Given the description of an element on the screen output the (x, y) to click on. 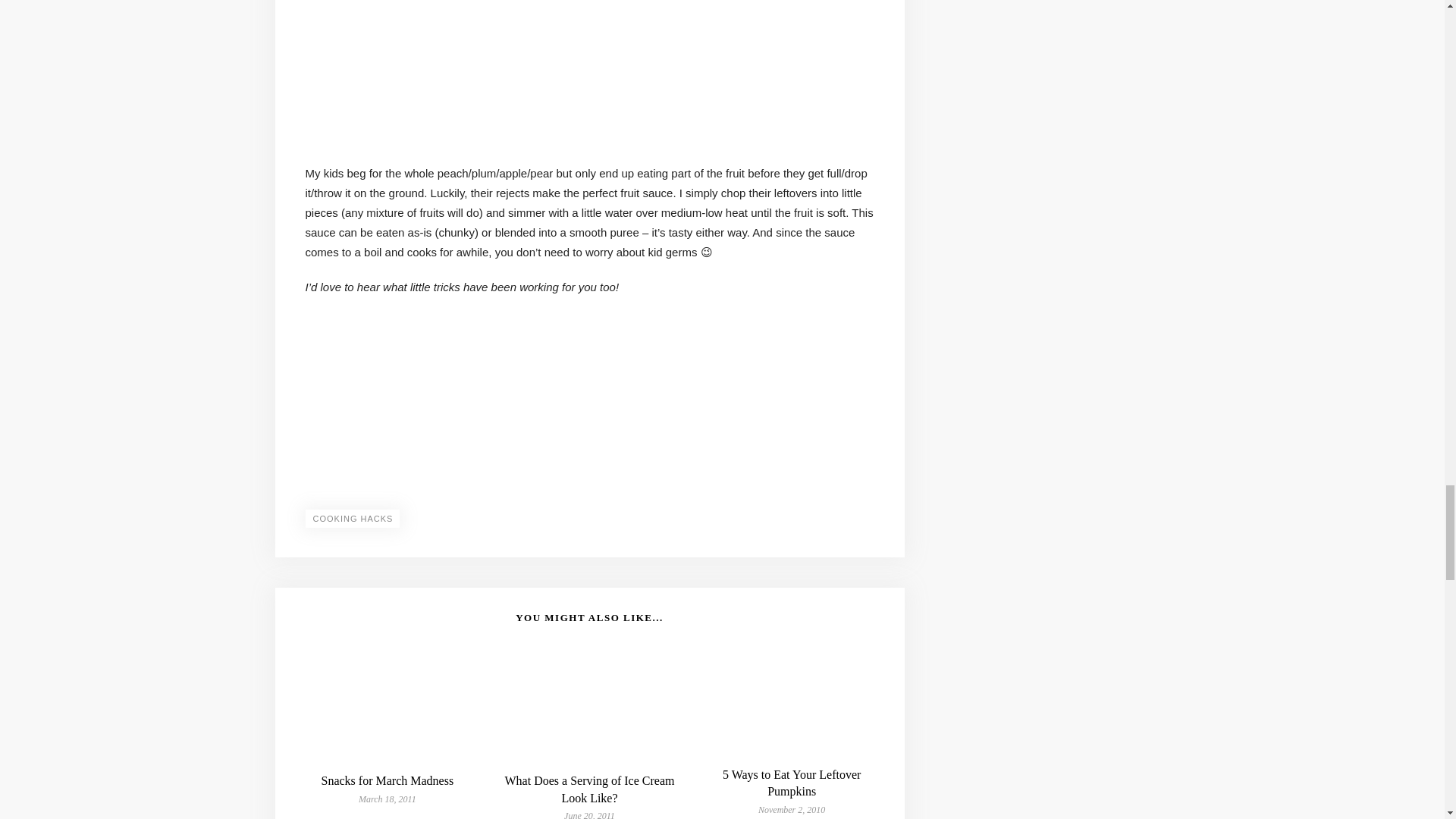
5 Ways to Eat Your Leftover Pumpkins (791, 782)
COOKING HACKS (351, 518)
Snacks for March Madness (387, 780)
What Does a Serving of Ice Cream Look Like? (590, 788)
